Given the description of an element on the screen output the (x, y) to click on. 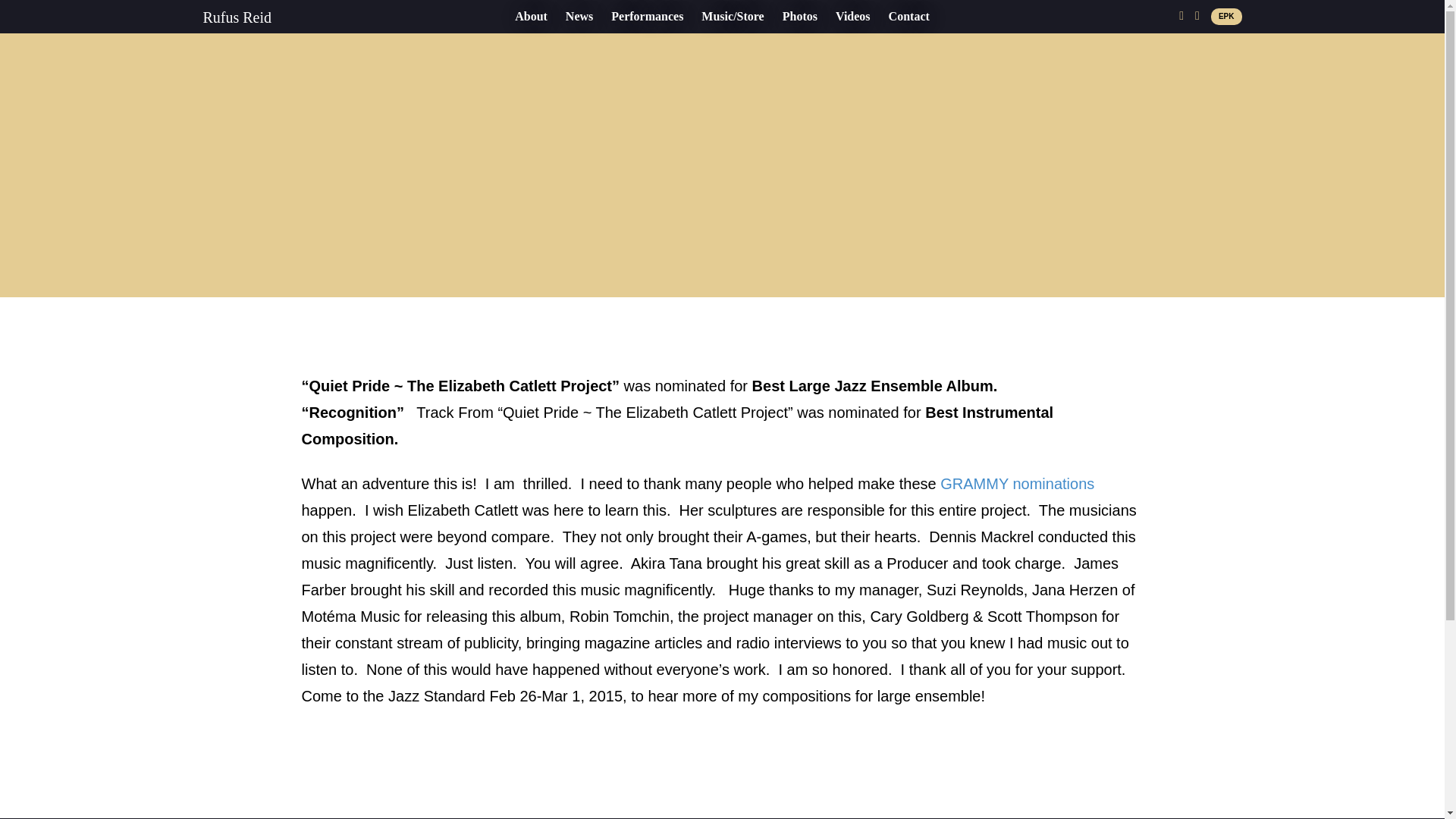
About (530, 16)
News (579, 16)
EPK (1226, 16)
Photos (800, 16)
GRAMMY nominations (1017, 483)
Contact (909, 16)
Rufus Reid (237, 17)
Performances (647, 16)
GRAMMY nominations (1017, 483)
Videos (853, 16)
